Given the description of an element on the screen output the (x, y) to click on. 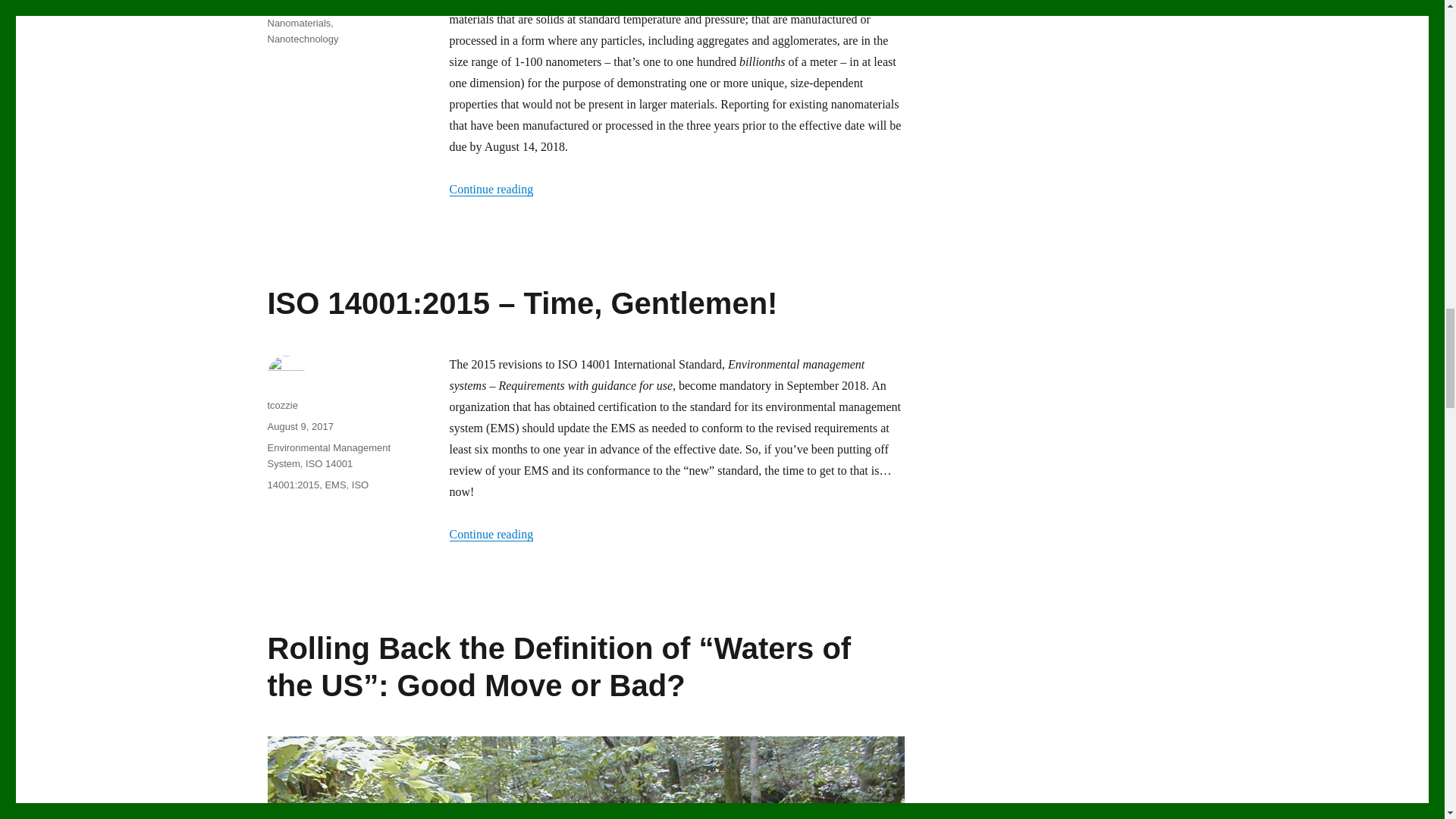
Environmental Management System (328, 455)
Nanomaterials (298, 22)
August 9, 2017 (299, 426)
Nanotechnology (301, 39)
Rules and Regulations (307, 3)
tcozzie (281, 405)
TSCA (337, 3)
ISO 14001 (328, 463)
